Given the description of an element on the screen output the (x, y) to click on. 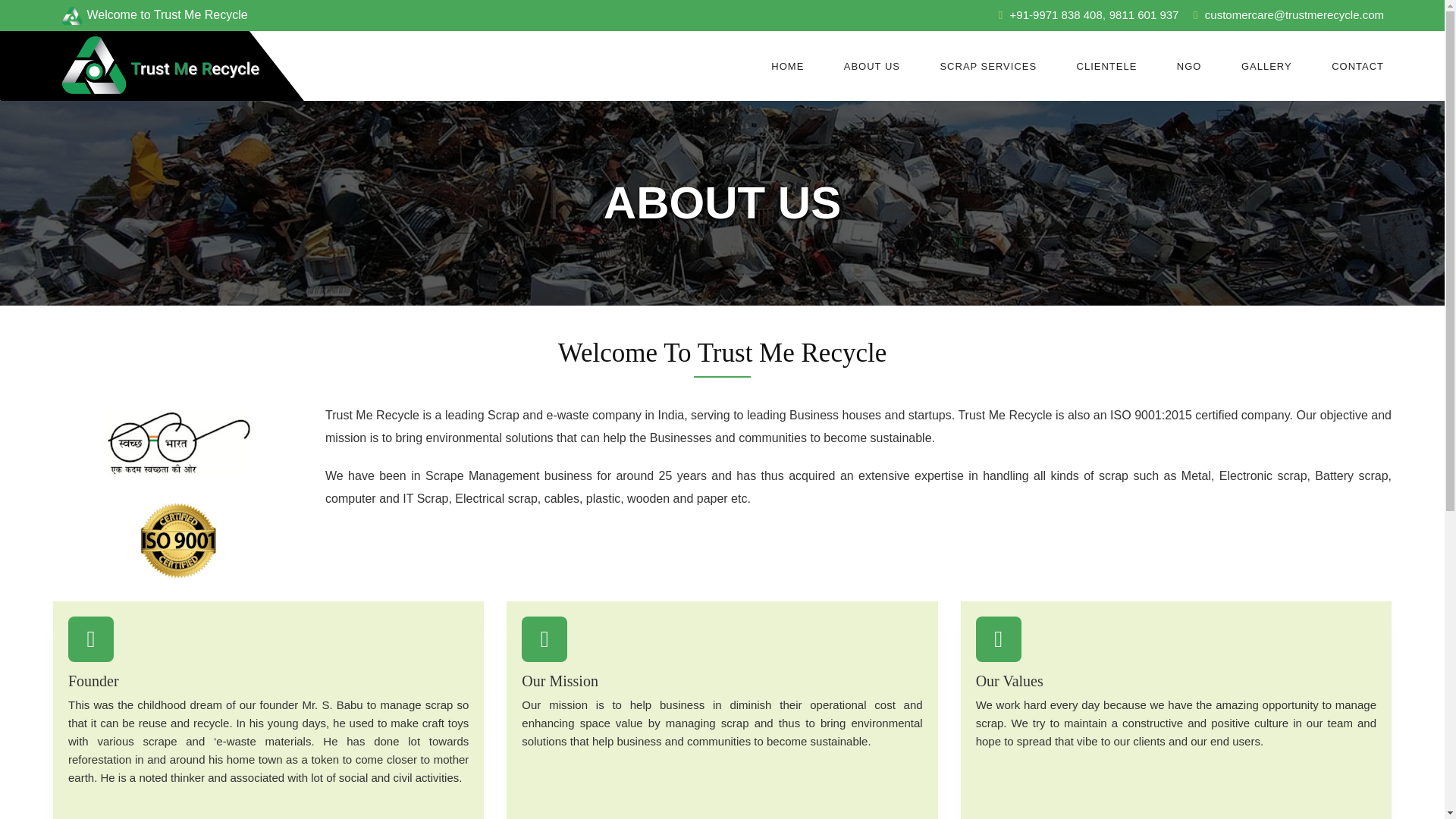
NGO (1189, 65)
CLIENTELE (1107, 65)
CONTACT (1358, 65)
GALLERY (1266, 65)
HOME (787, 65)
SCRAP SERVICES (987, 65)
ABOUT US (871, 65)
9811 601 937 (1144, 14)
